Given the description of an element on the screen output the (x, y) to click on. 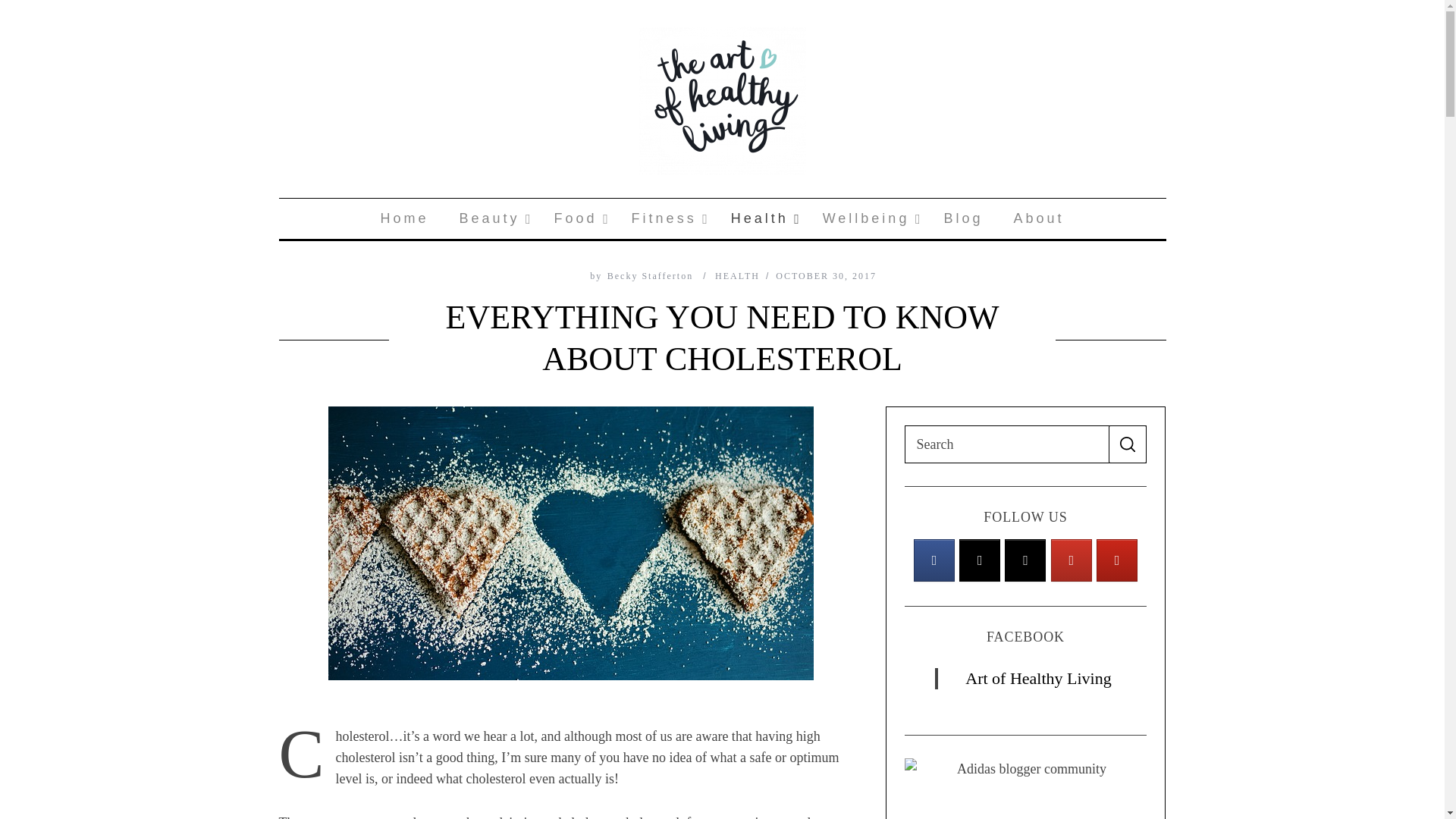
The Art of Healthy Living on Facebook (722, 219)
The Art of Healthy Living on Instagram (934, 559)
Fitness (1024, 559)
Food (665, 219)
The Art of Healthy Living on X Twitter (576, 219)
Home (979, 559)
The Art of Healthy Living on Pinterest (404, 219)
Beauty (1116, 559)
The Art of Healthy Living on Youtube (491, 219)
